Given the description of an element on the screen output the (x, y) to click on. 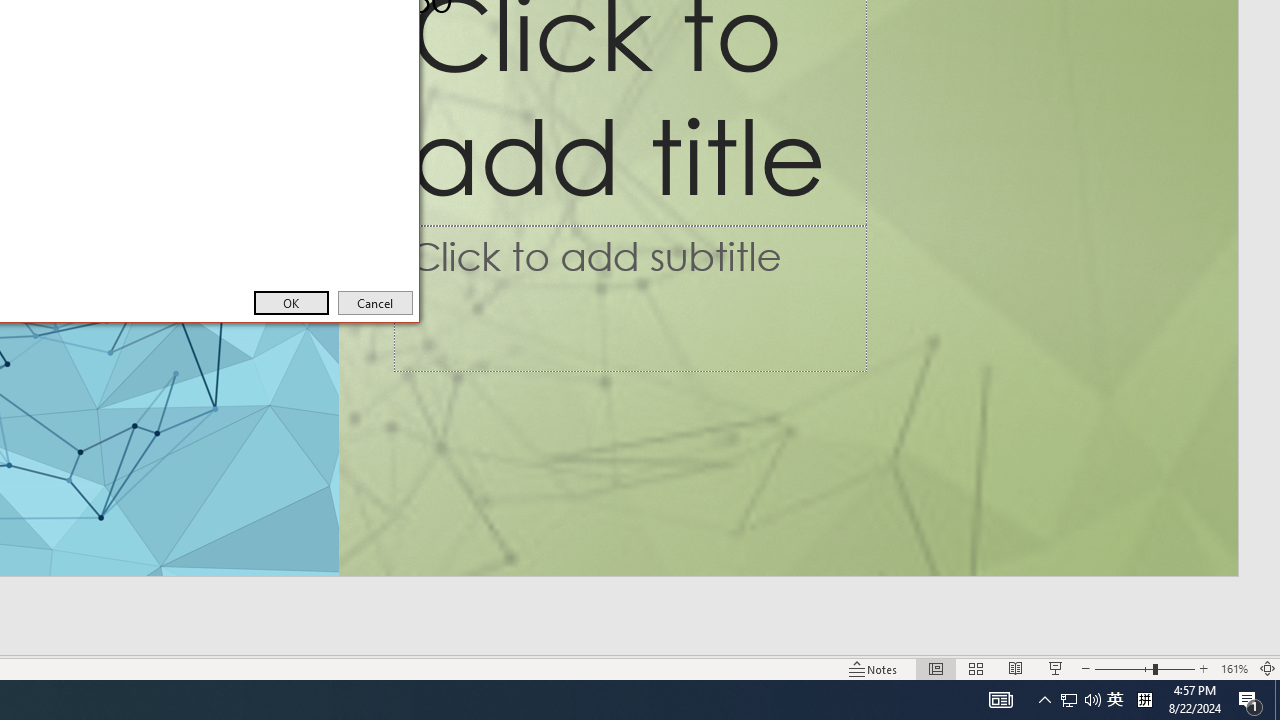
Action Center, 1 new notification (1250, 699)
Zoom 161% (1234, 668)
